Given the description of an element on the screen output the (x, y) to click on. 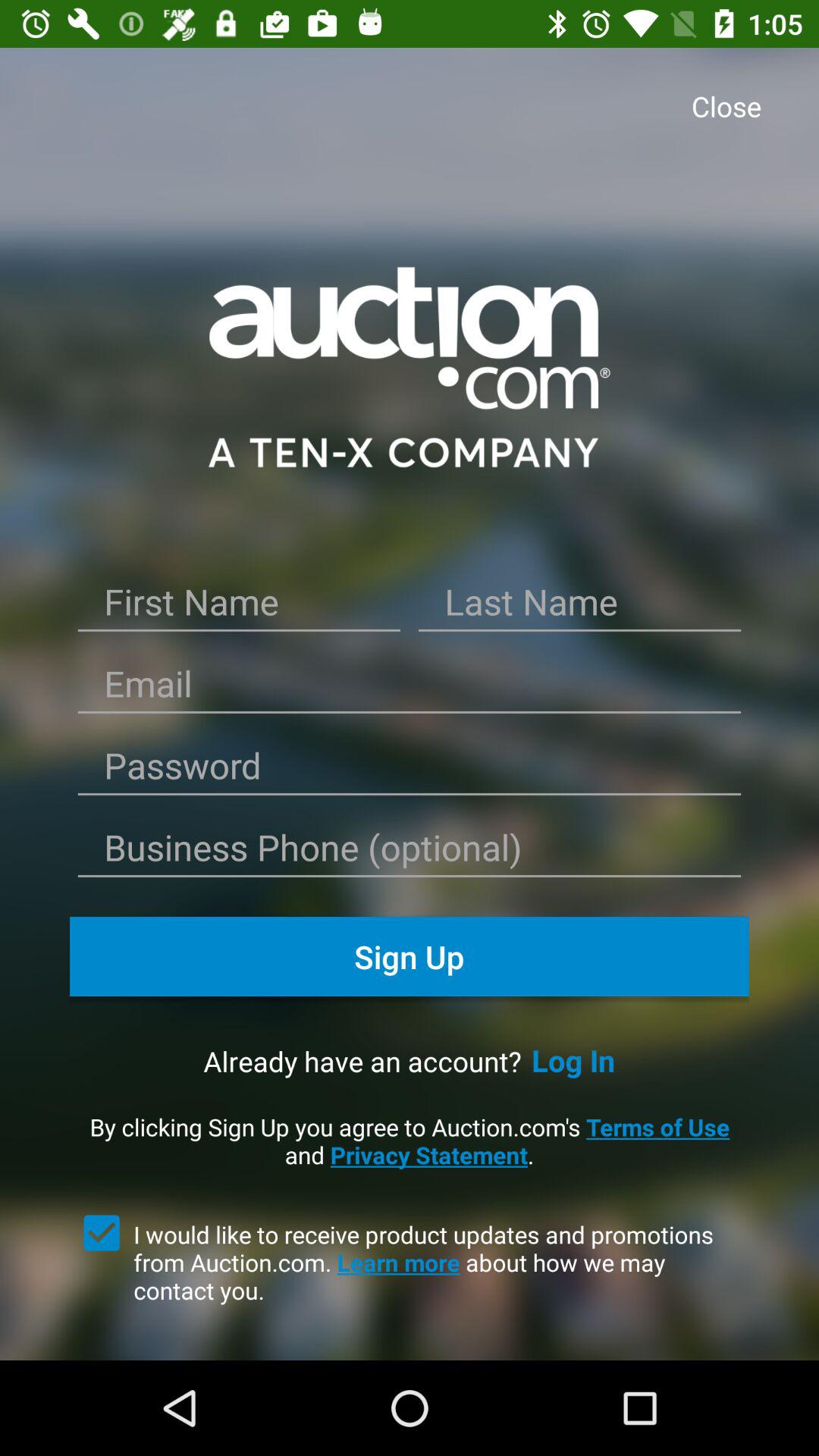
write your first name (238, 607)
